Given the description of an element on the screen output the (x, y) to click on. 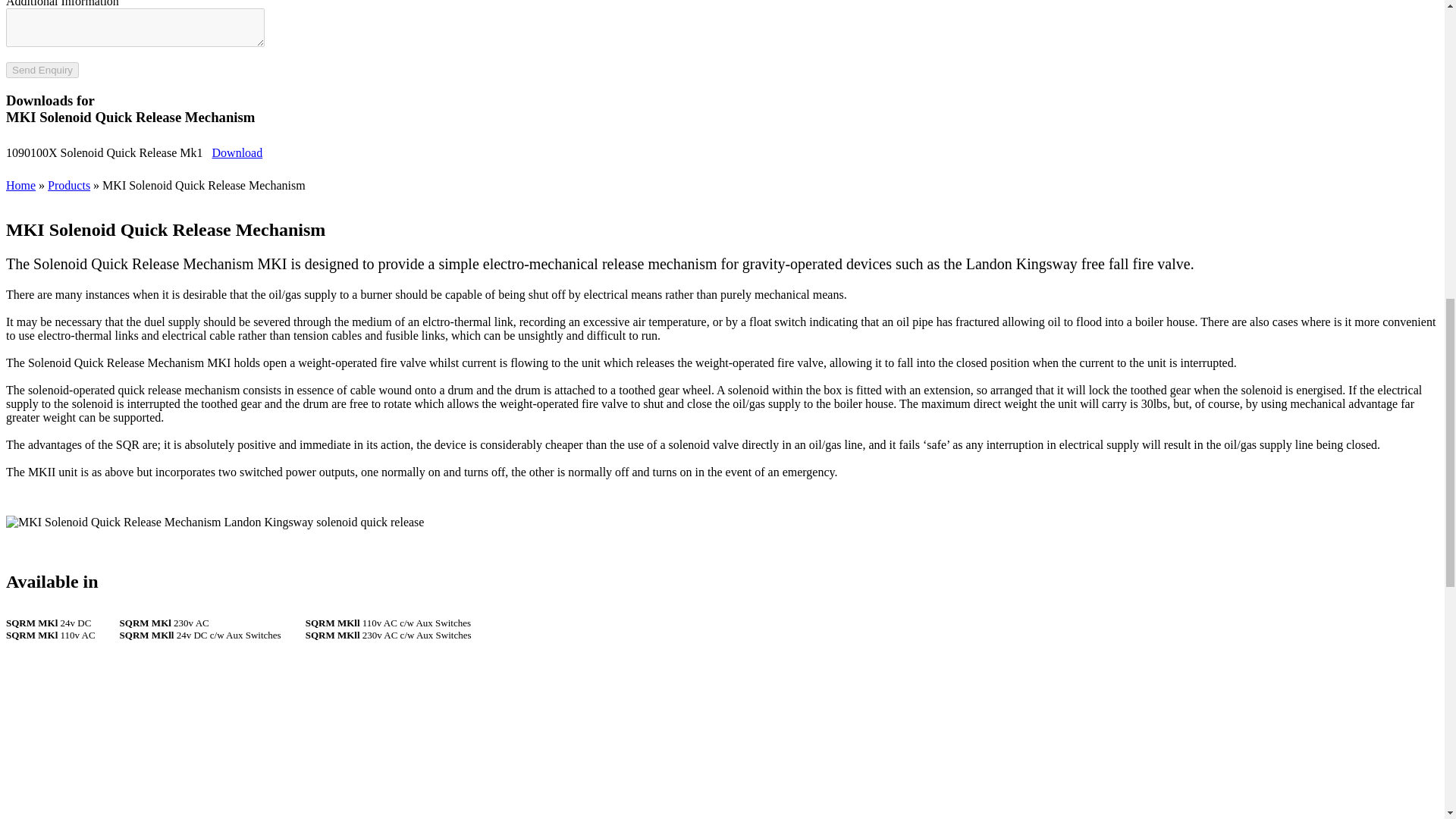
Send Enquiry (41, 69)
Download (237, 152)
Home (19, 185)
Send Enquiry (41, 69)
Products (69, 185)
